Given the description of an element on the screen output the (x, y) to click on. 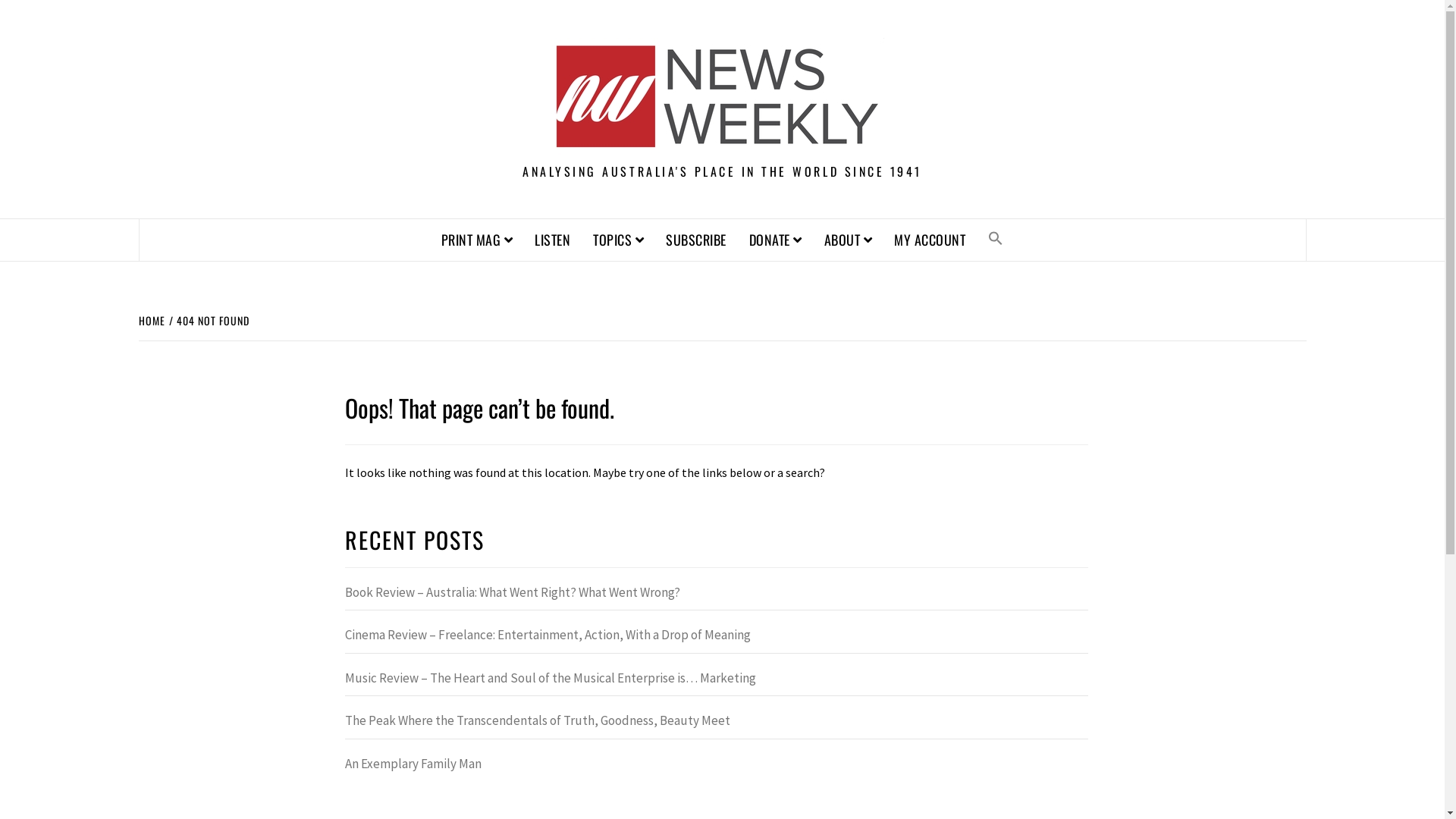
MY ACCOUNT Element type: text (929, 239)
ABOUT Element type: text (847, 239)
404 NOT FOUND Element type: text (210, 320)
HOME Element type: text (153, 320)
TOPICS Element type: text (617, 239)
LISTEN Element type: text (552, 239)
An Exemplary Family Man Element type: text (716, 767)
DONATE Element type: text (774, 239)
SUBSCRIBE Element type: text (695, 239)
PRINT MAG Element type: text (476, 239)
